Given the description of an element on the screen output the (x, y) to click on. 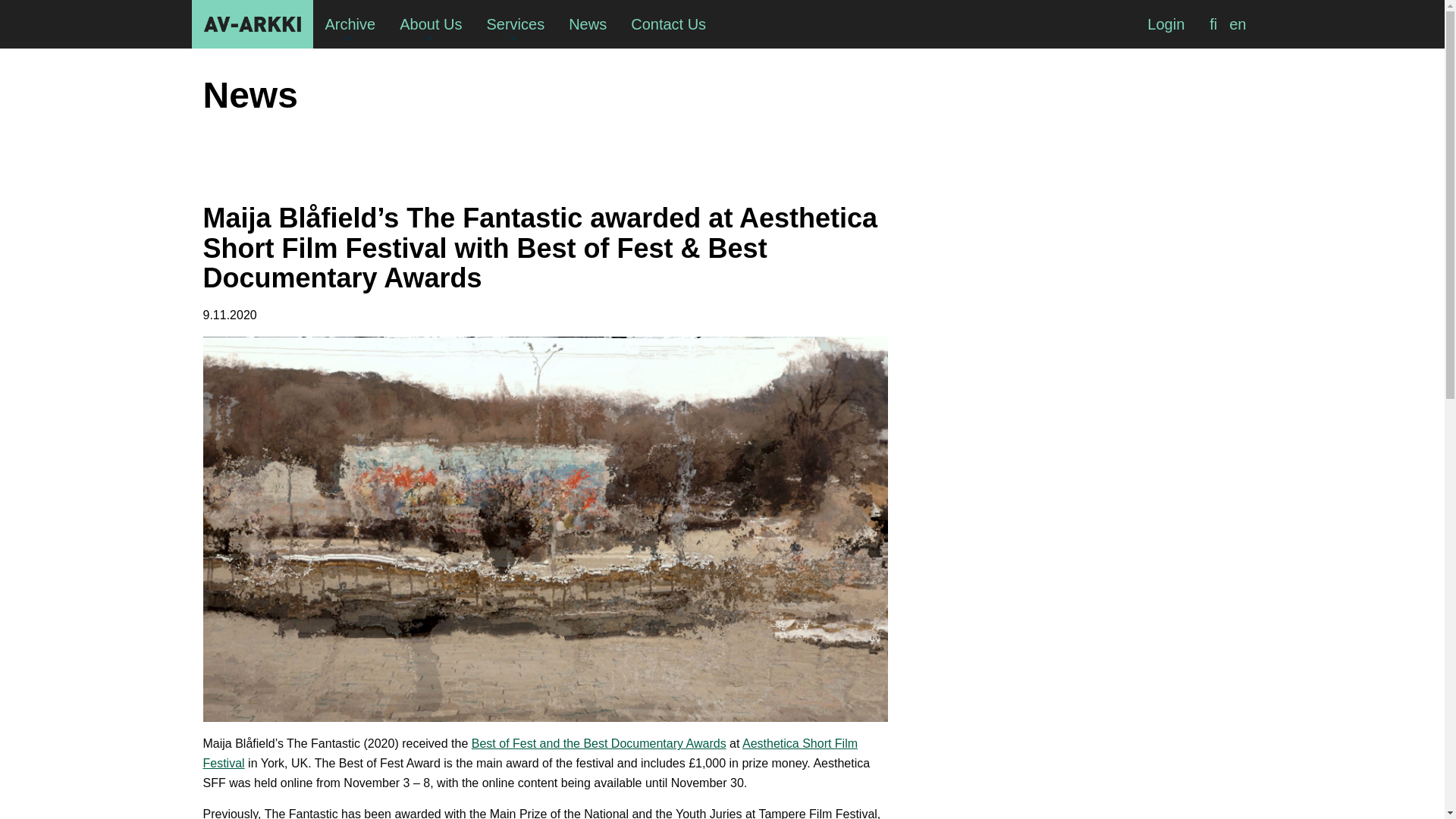
News (587, 24)
Login (1166, 23)
Archive (350, 24)
Services (515, 24)
Contact Us (667, 24)
About Us (430, 24)
AV-arkki (251, 24)
